Given the description of an element on the screen output the (x, y) to click on. 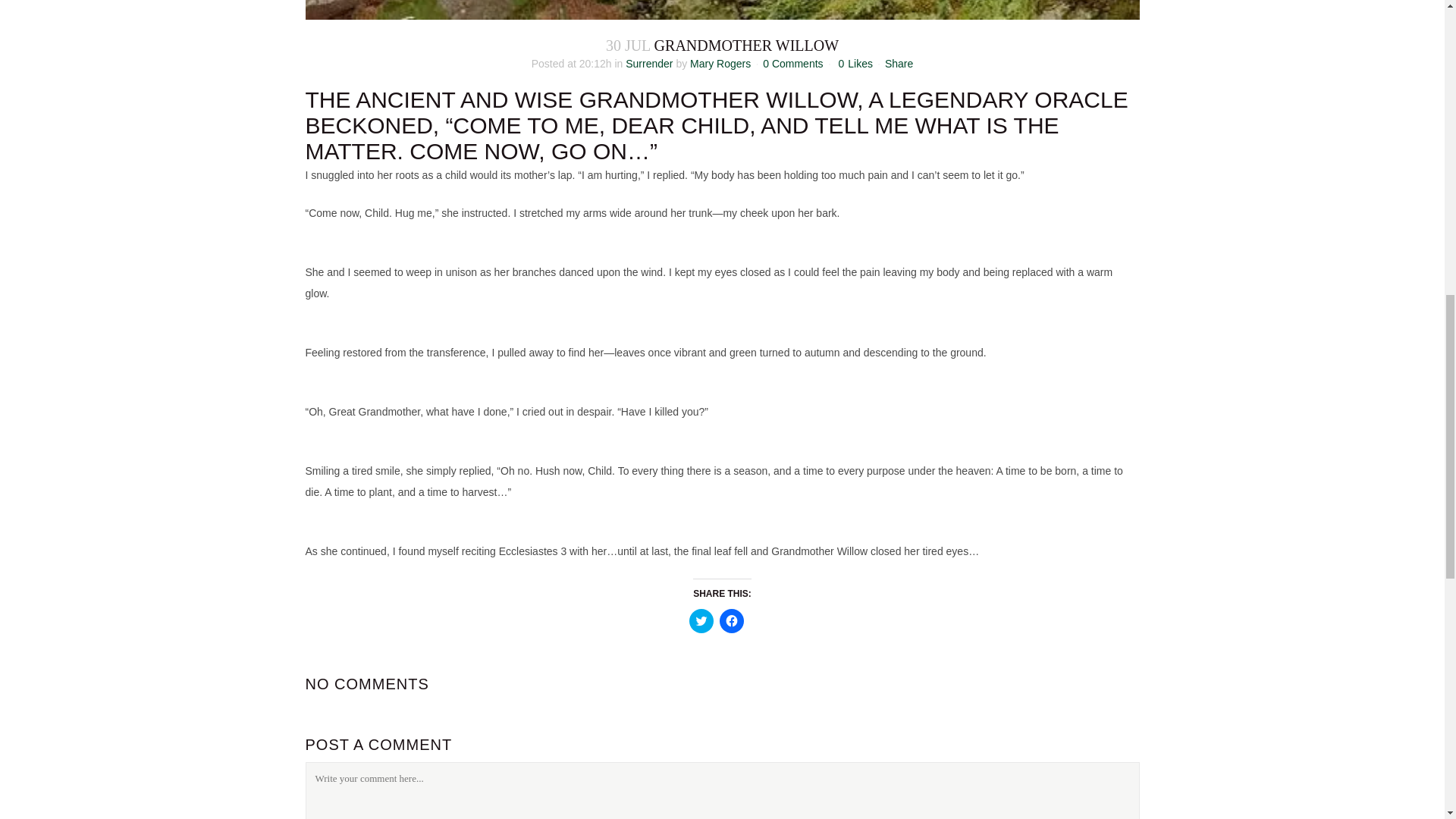
Like this (855, 63)
Click to share on Twitter (700, 621)
Click to share on Facebook (730, 621)
